Given the description of an element on the screen output the (x, y) to click on. 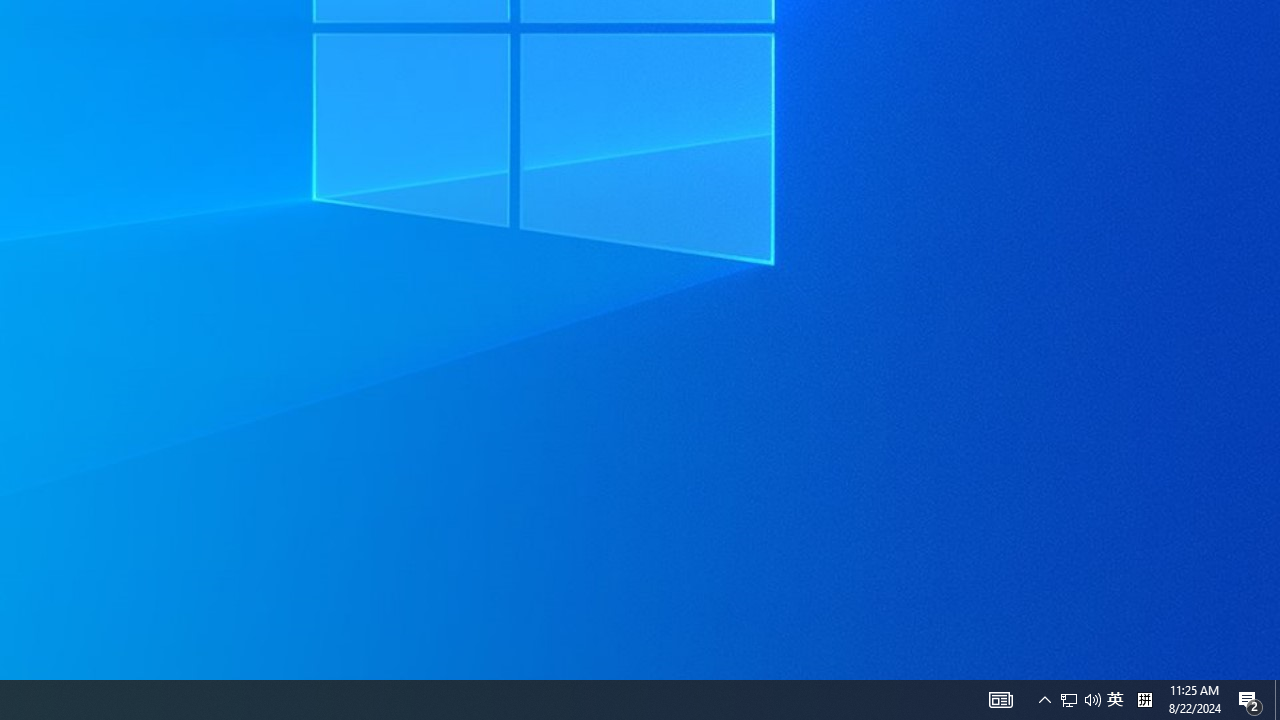
AutomationID: 4105 (1000, 699)
Action Center, 2 new notifications (1250, 699)
Show desktop (1277, 699)
User Promoted Notification Area (1069, 699)
Q2790: 100% (1080, 699)
Tray Input Indicator - Chinese (Simplified, China) (1092, 699)
Notification Chevron (1144, 699)
